Given the description of an element on the screen output the (x, y) to click on. 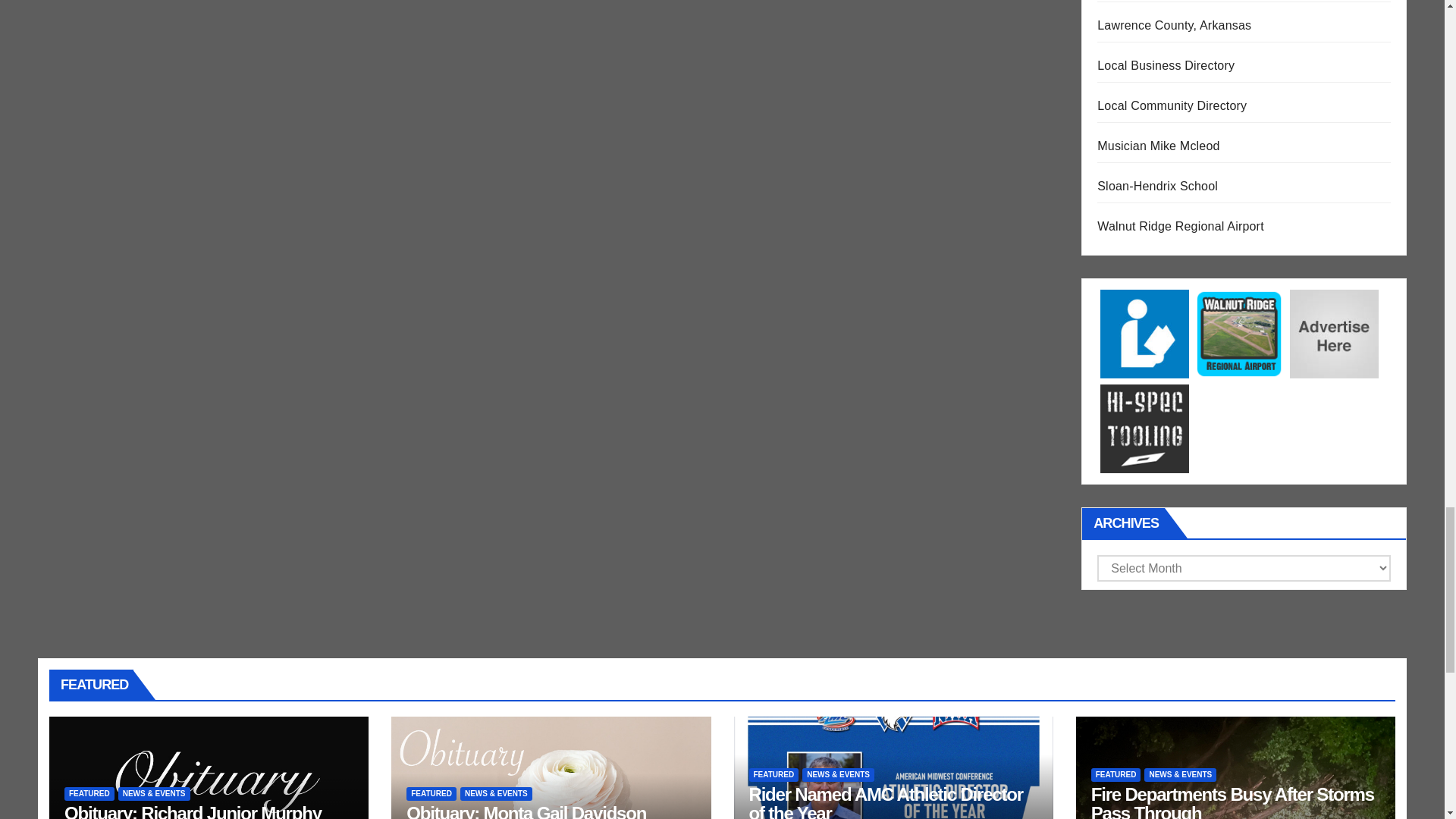
Lawrence County Library (1144, 332)
